Given the description of an element on the screen output the (x, y) to click on. 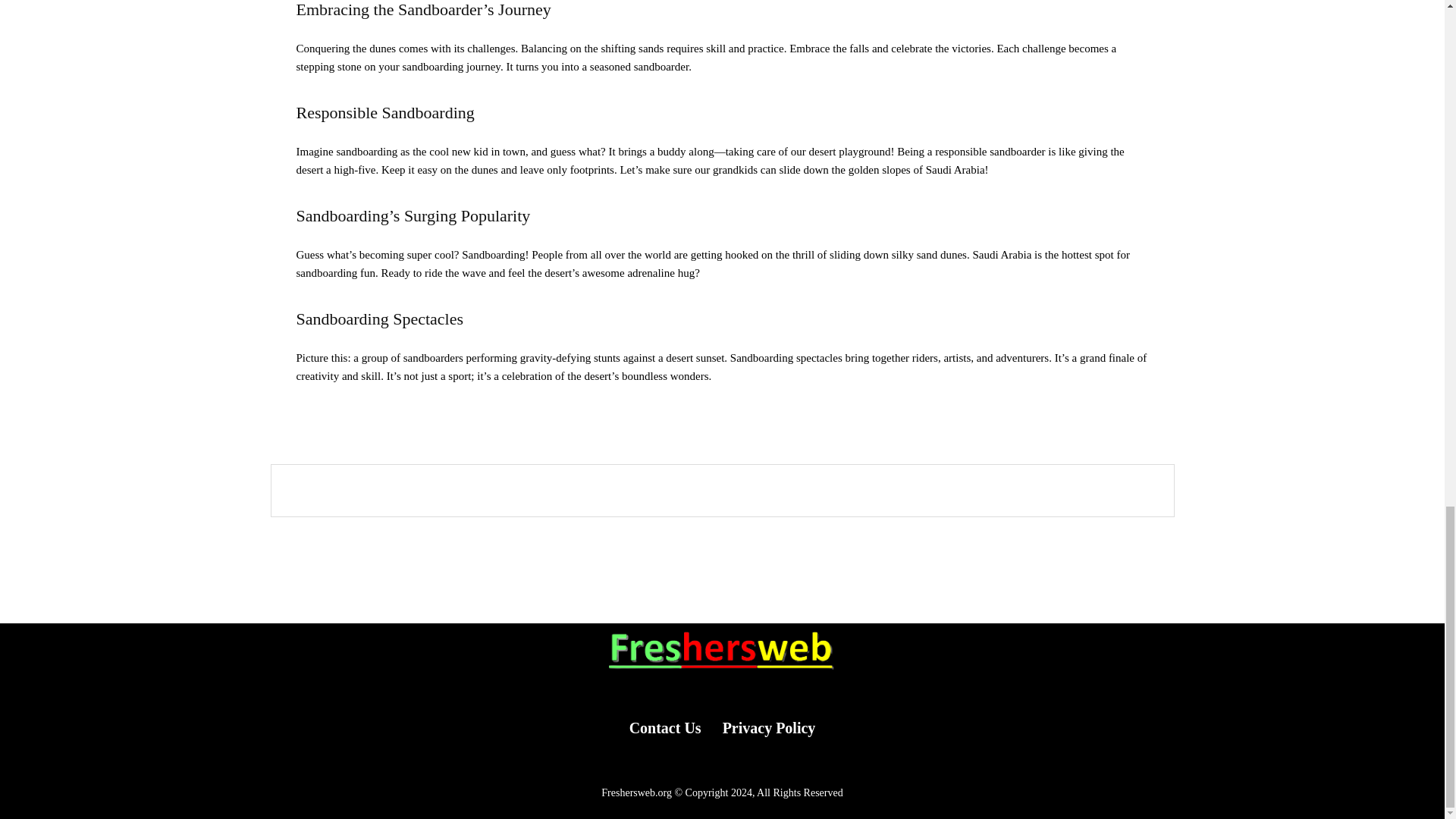
Privacy Policy (769, 728)
Contact Us (664, 728)
